Given the description of an element on the screen output the (x, y) to click on. 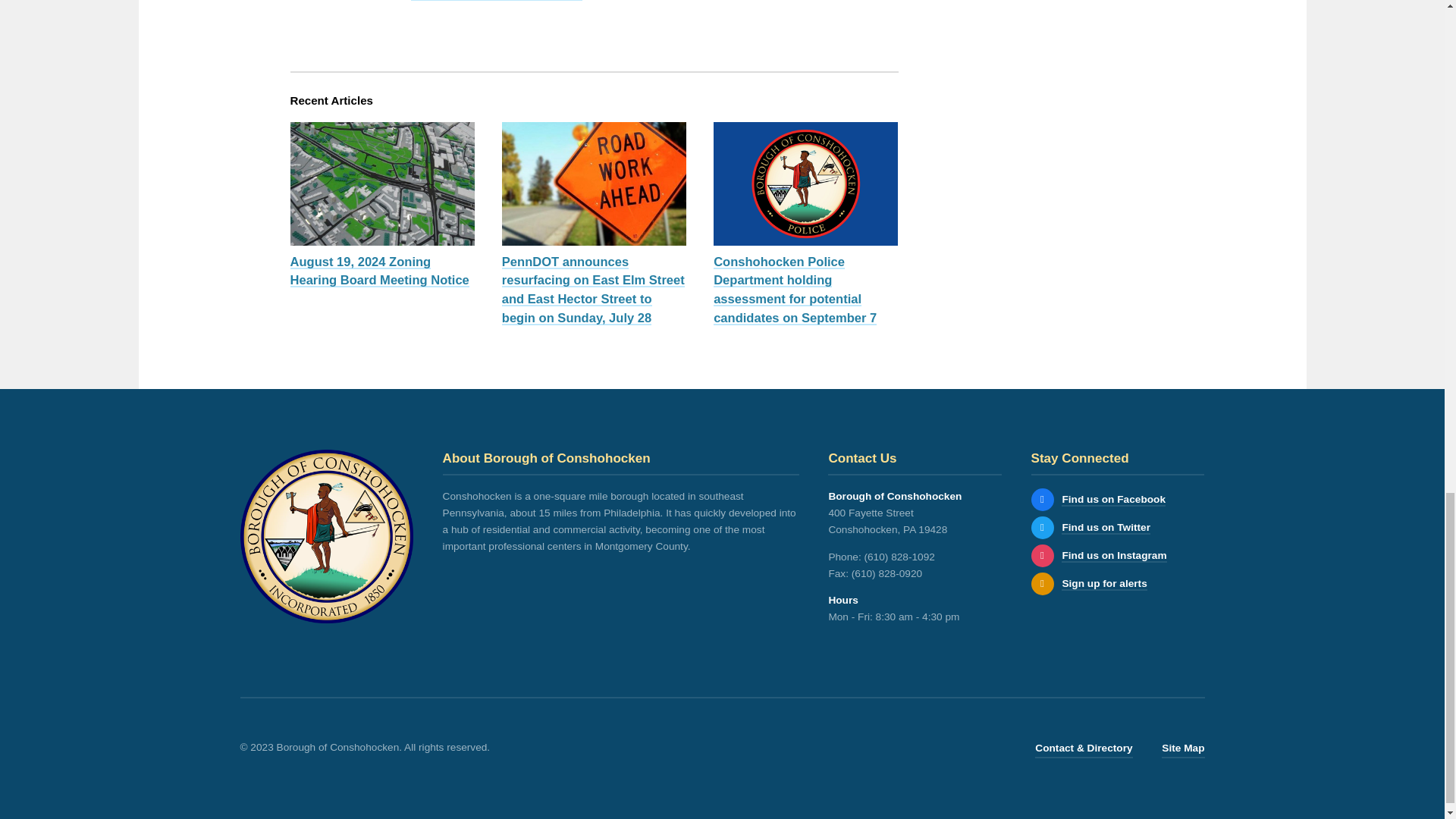
Find us on Twitter (1105, 527)
Find us on Facebook (1113, 499)
Find us on Twitter (1042, 527)
Find us on Instagram (1042, 555)
Find us on Instagram (1113, 555)
Find us on Facebook (1042, 499)
